Given the description of an element on the screen output the (x, y) to click on. 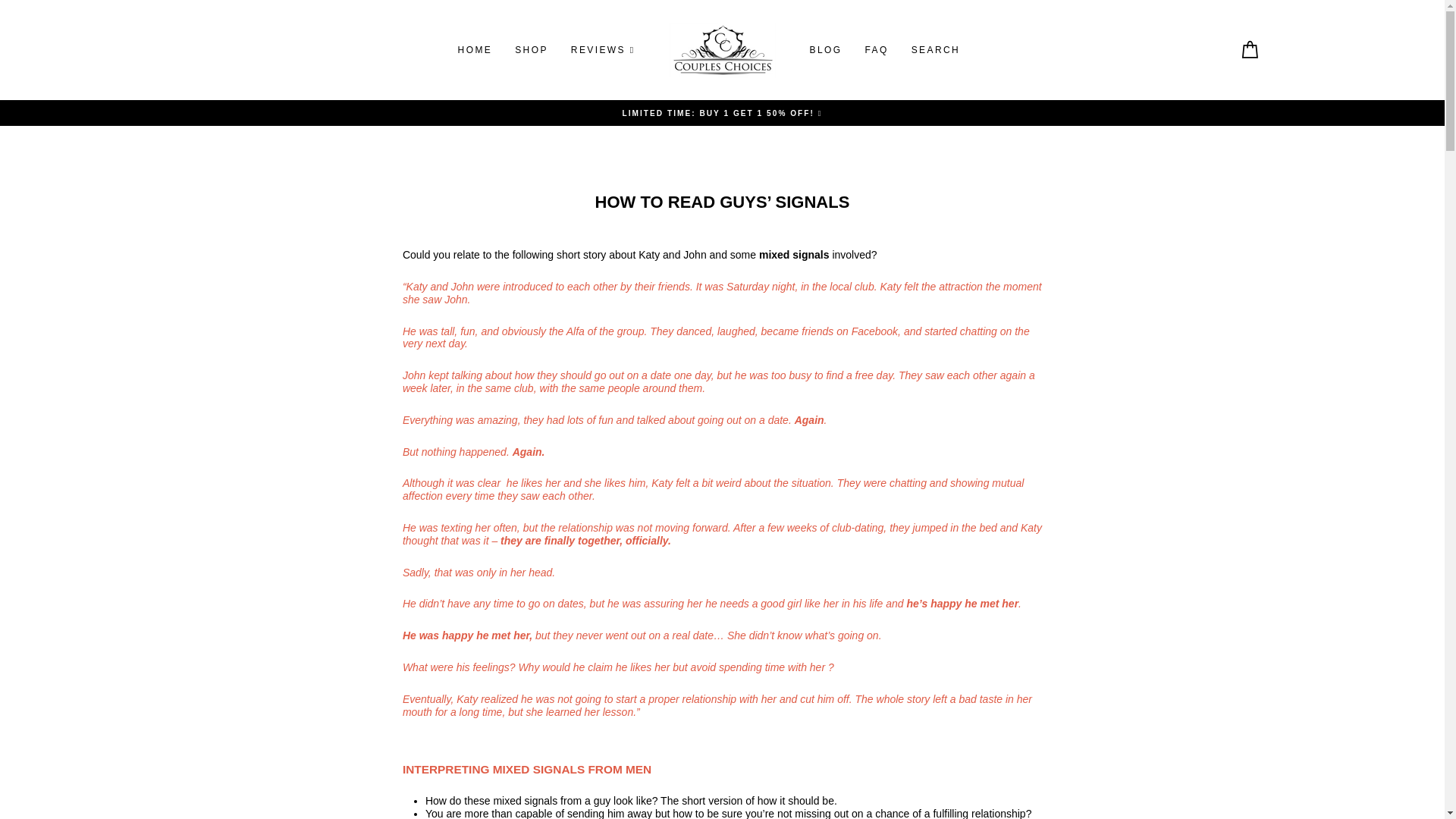
HOME (474, 49)
SHOP (531, 49)
CART (1249, 49)
SEARCH (935, 49)
FAQ (876, 49)
BLOG (825, 49)
